Given the description of an element on the screen output the (x, y) to click on. 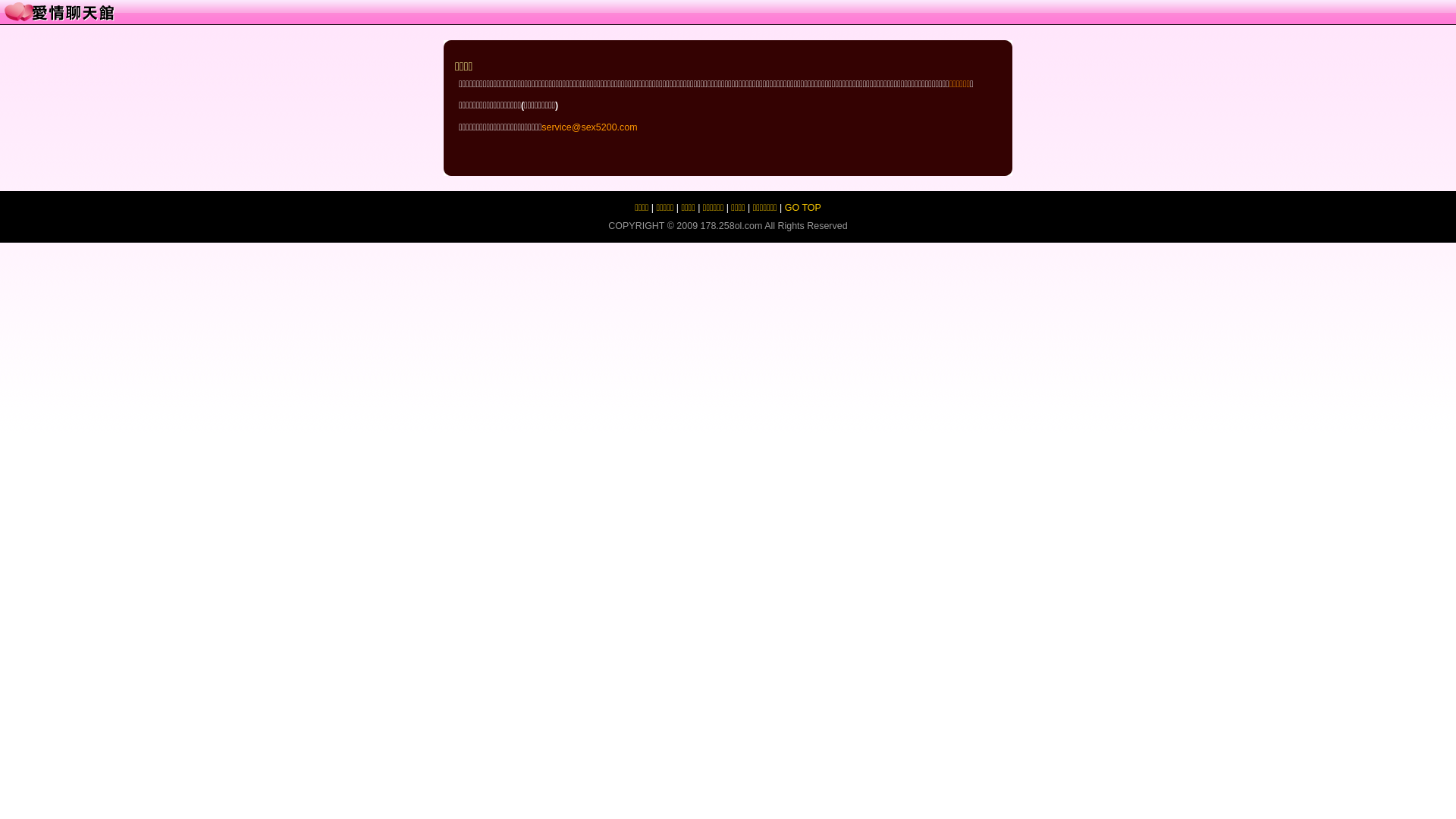
178.258ol.com Element type: text (731, 225)
GO TOP Element type: text (802, 207)
service@sex5200.com Element type: text (589, 127)
